Given the description of an element on the screen output the (x, y) to click on. 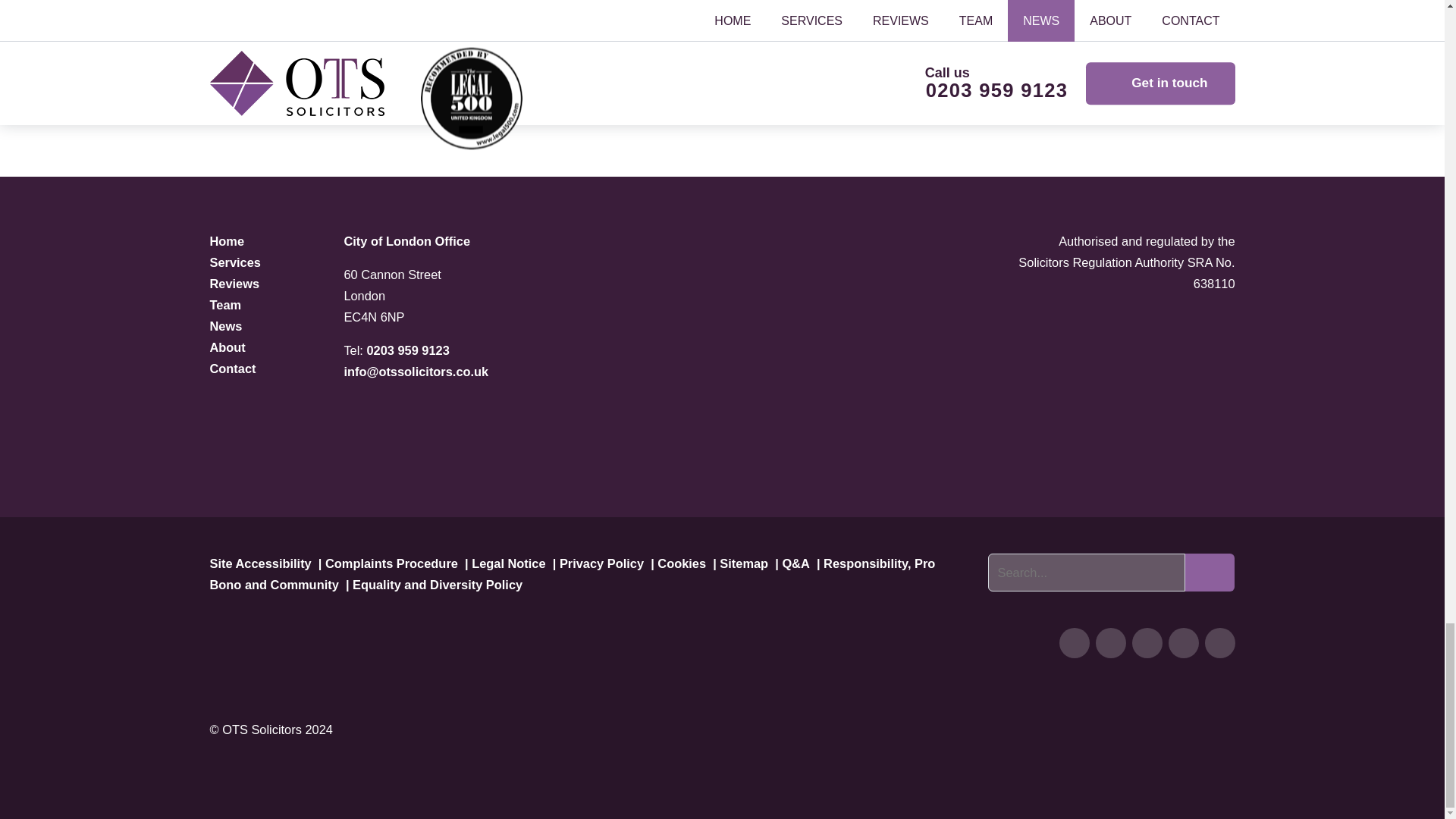
Search the site (1086, 572)
